Given the description of an element on the screen output the (x, y) to click on. 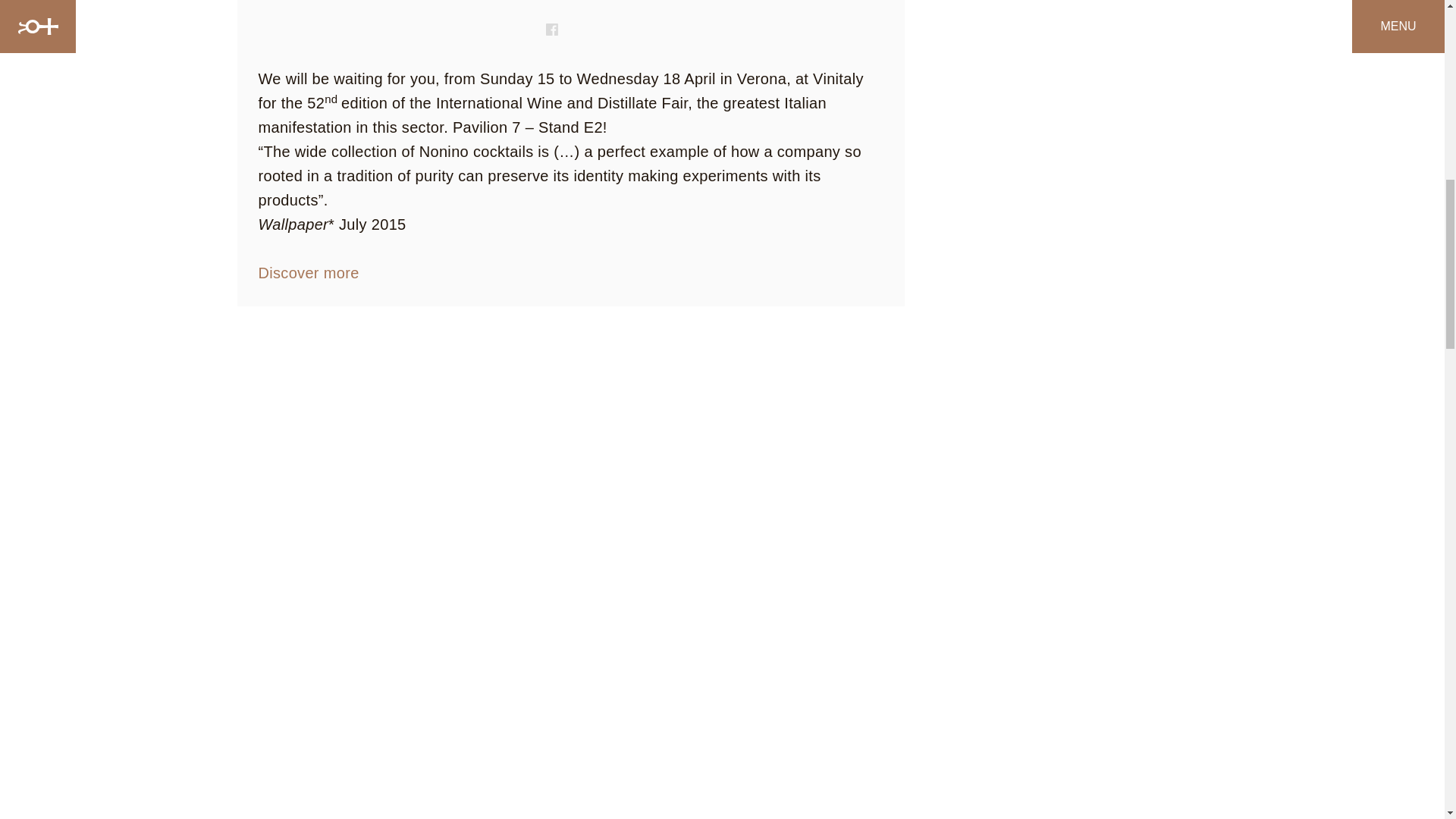
Discover more (307, 272)
